Given the description of an element on the screen output the (x, y) to click on. 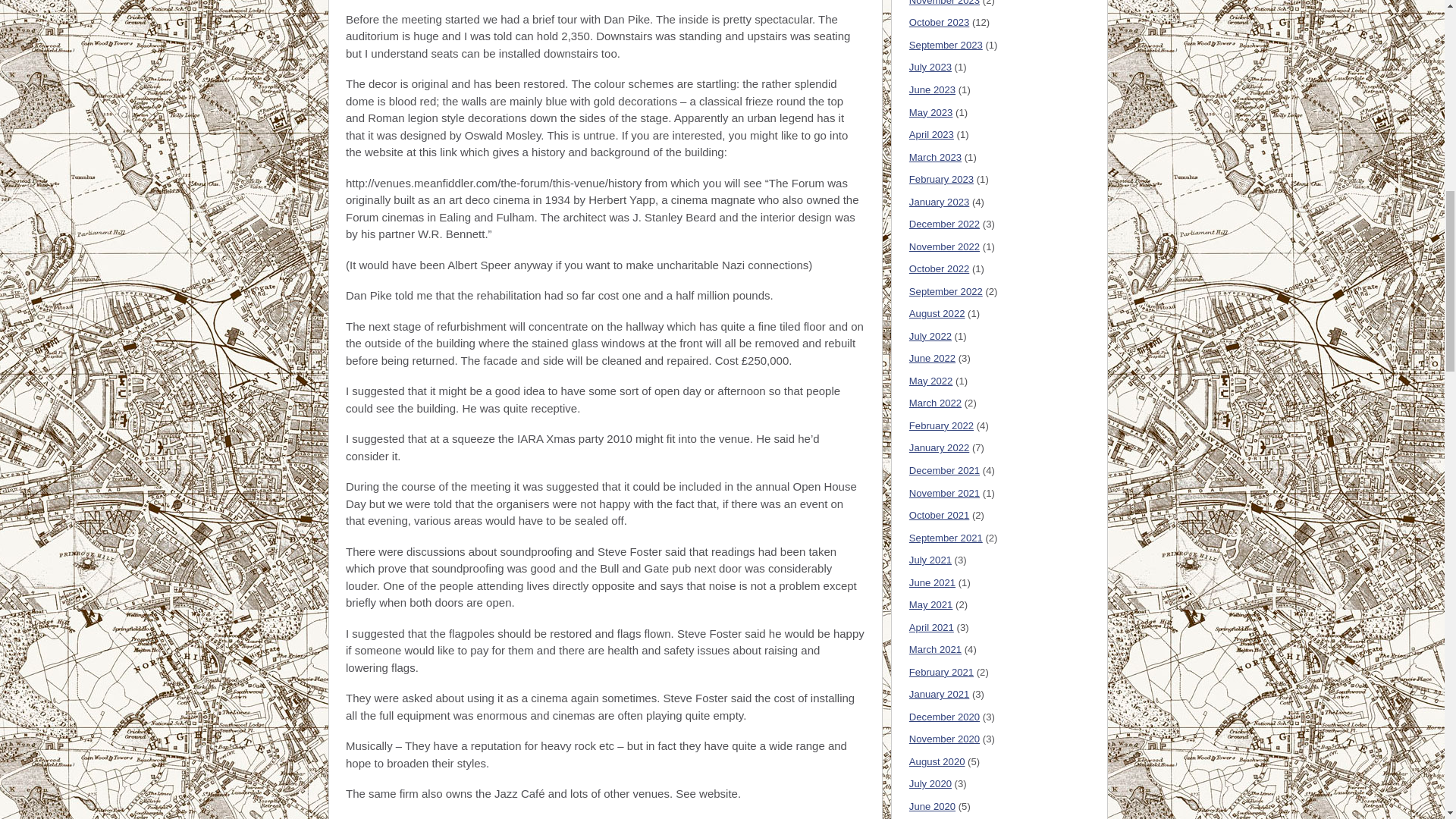
June 2022 (931, 357)
February 2023 (941, 179)
September 2022 (945, 291)
November 2022 (943, 246)
March 2023 (934, 156)
July 2023 (930, 66)
December 2022 (943, 224)
October 2022 (938, 268)
August 2022 (936, 313)
January 2023 (938, 202)
